Given the description of an element on the screen output the (x, y) to click on. 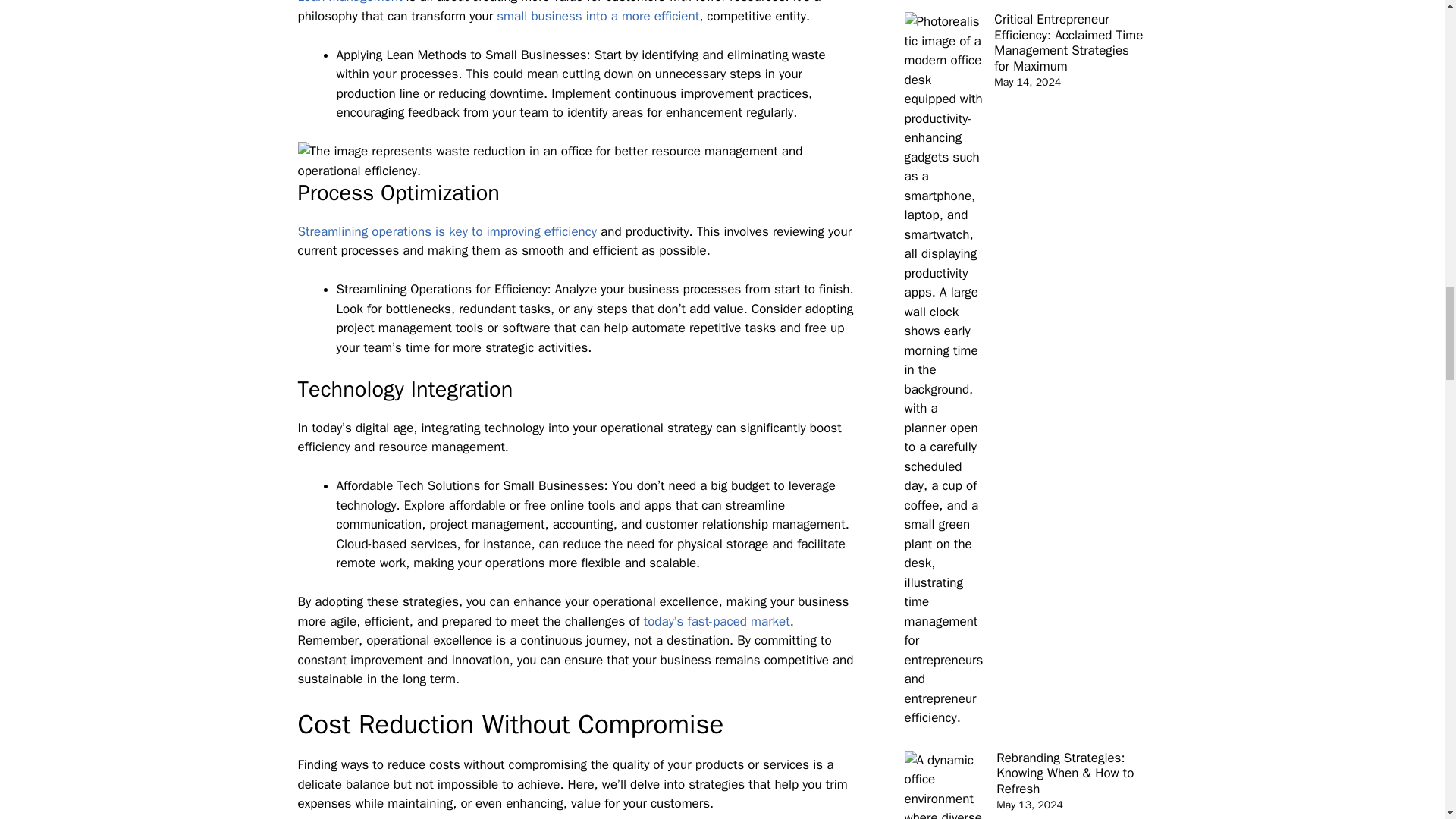
Streamlining operations is key to improving efficiency (446, 231)
small business into a more efficient (597, 16)
Lean management (349, 2)
Waste Reduction (578, 160)
